Given the description of an element on the screen output the (x, y) to click on. 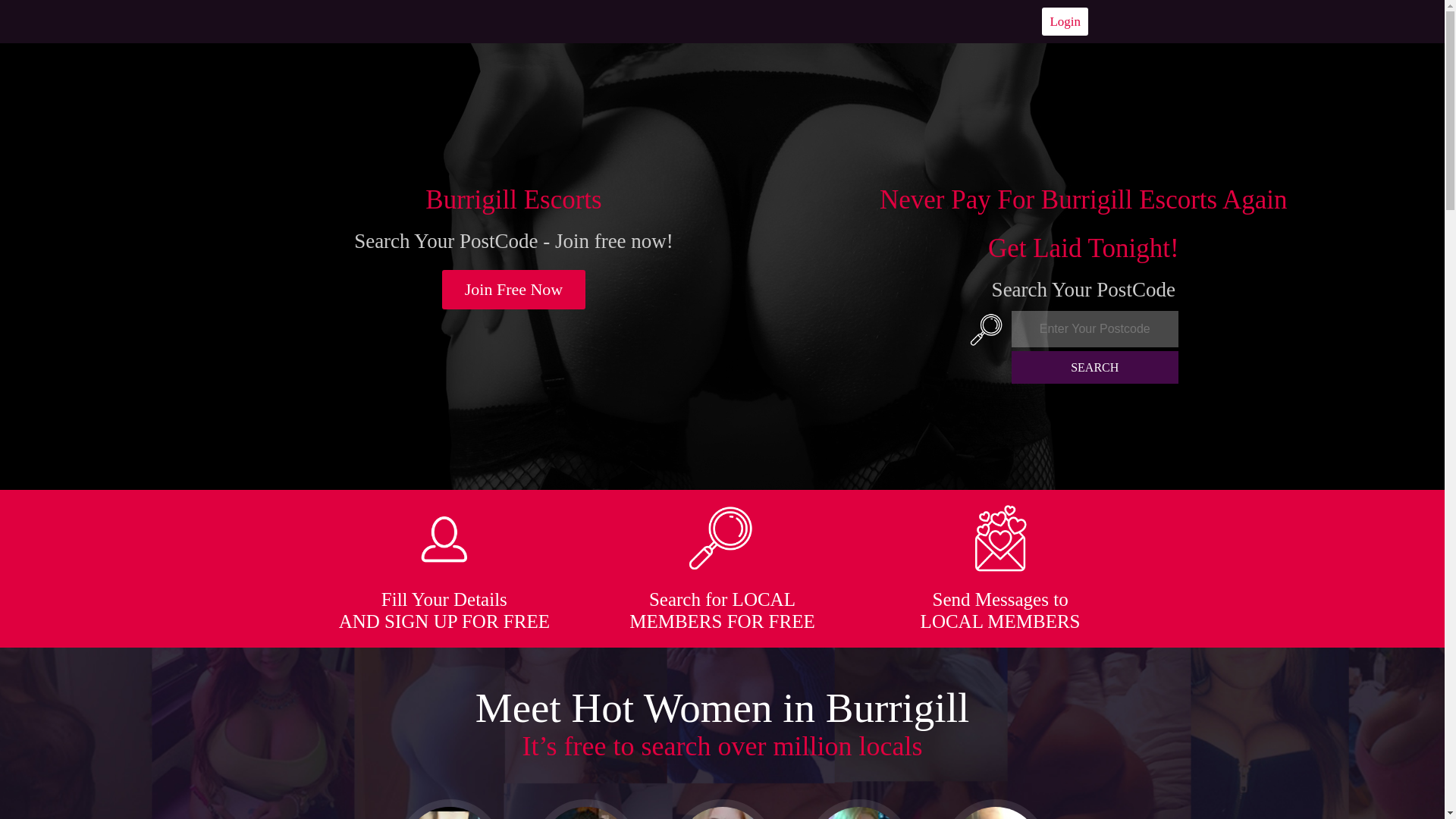
Join (514, 289)
Login (1064, 21)
SEARCH (1094, 367)
Login (1064, 21)
Join Free Now (514, 289)
